Given the description of an element on the screen output the (x, y) to click on. 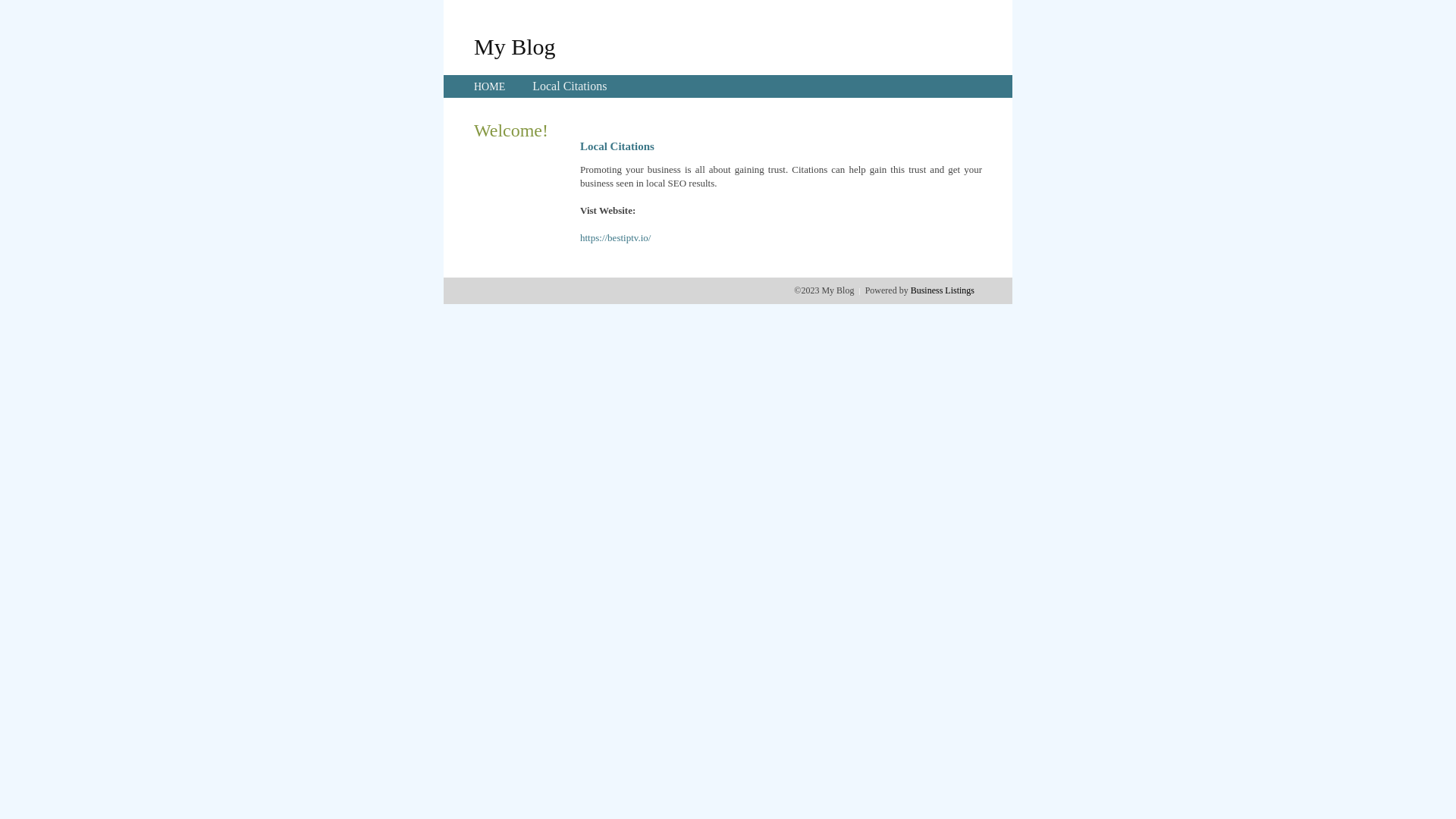
Business Listings Element type: text (942, 290)
My Blog Element type: text (514, 46)
https://bestiptv.io/ Element type: text (615, 237)
Local Citations Element type: text (569, 85)
HOME Element type: text (489, 86)
